Given the description of an element on the screen output the (x, y) to click on. 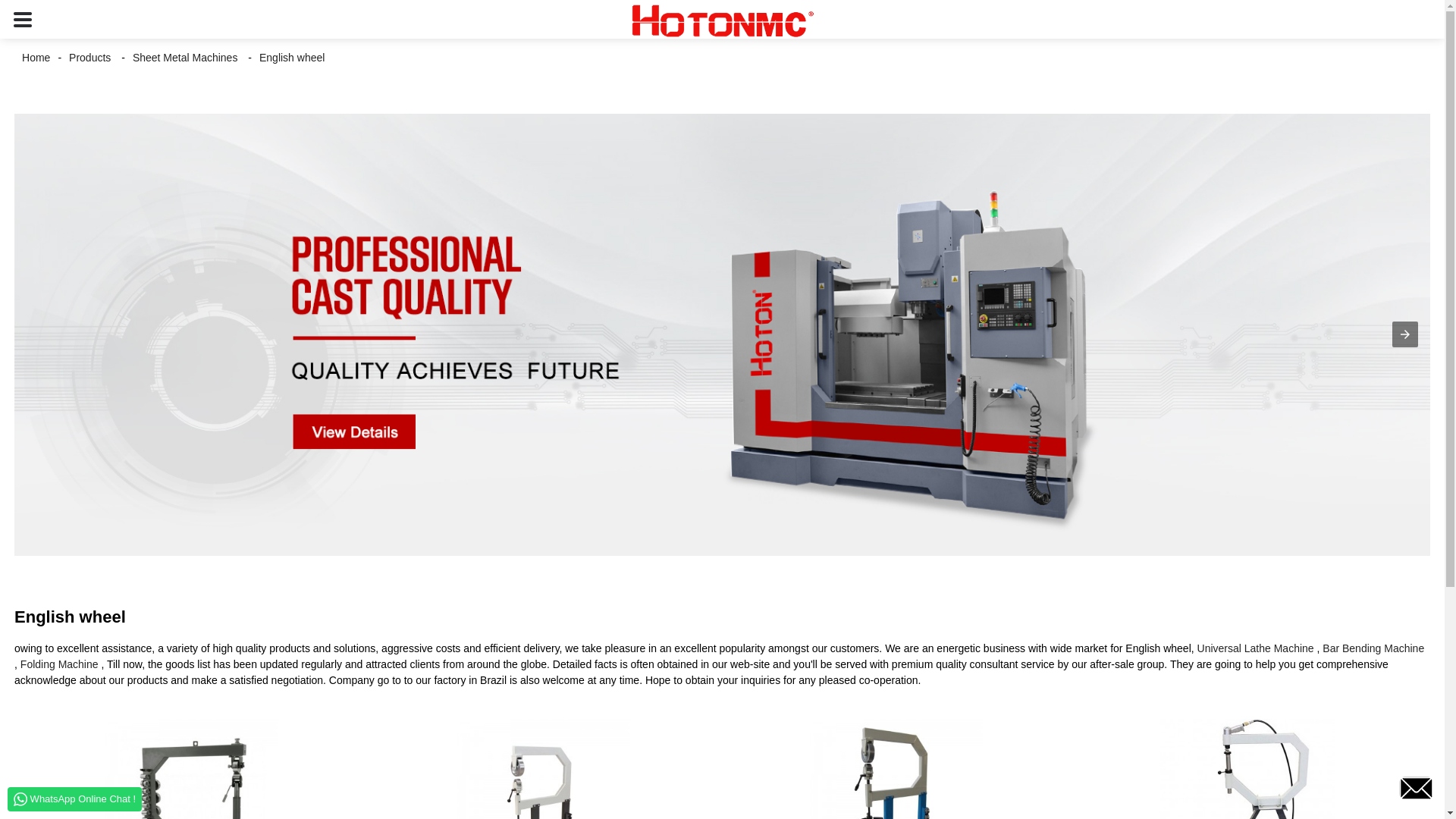
Bar Bending Machine (1372, 648)
Universal Lathe Machine (1255, 648)
Folding Machine (59, 664)
Sheet Metal Machines (185, 57)
Universal Lathe Machine (1255, 648)
Sheet Metal Machines (185, 57)
English wheel (291, 57)
Products (89, 57)
Products (89, 57)
Bar Bending Machine (1372, 648)
